Given the description of an element on the screen output the (x, y) to click on. 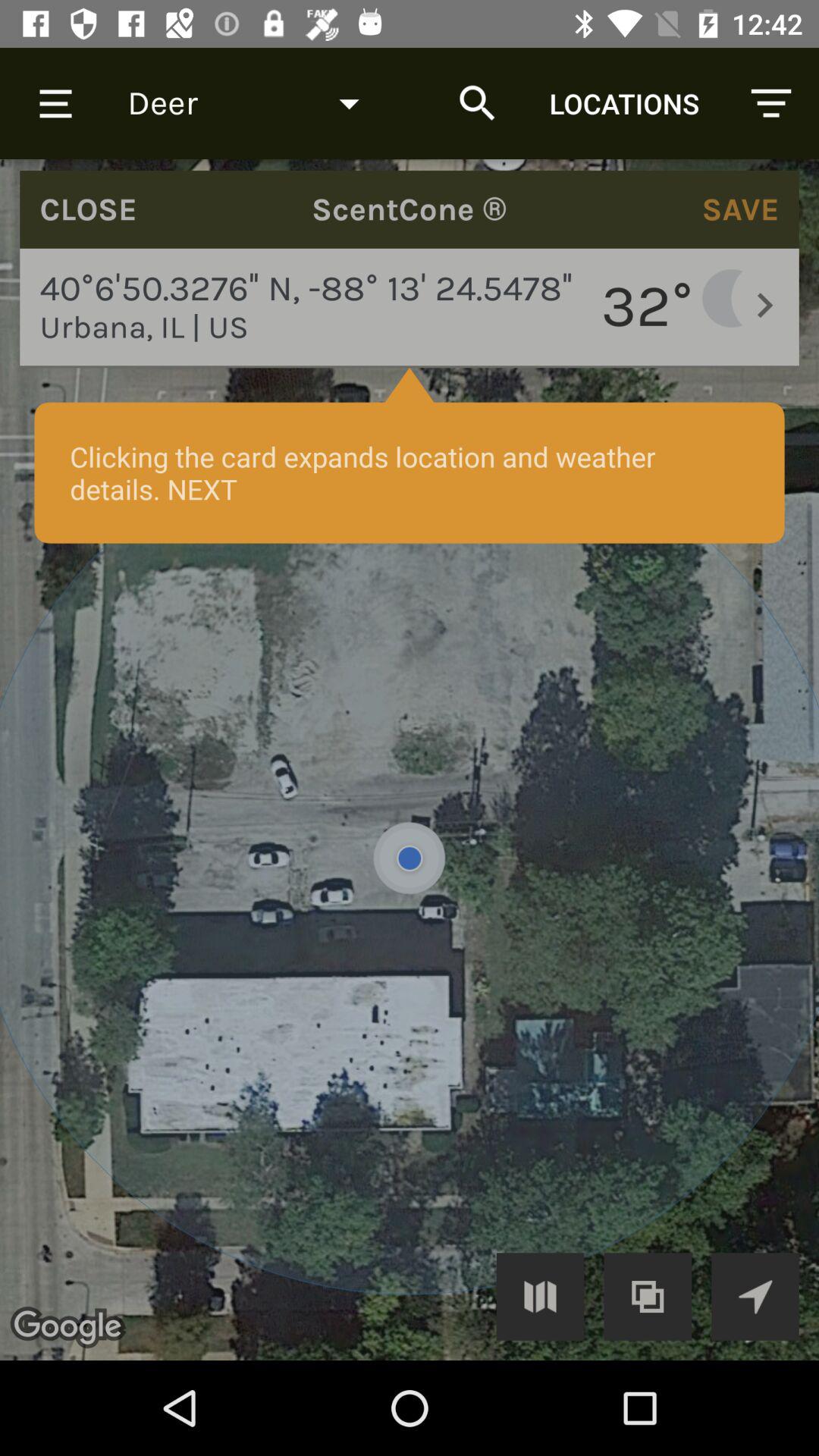
information page (409, 759)
